Given the description of an element on the screen output the (x, y) to click on. 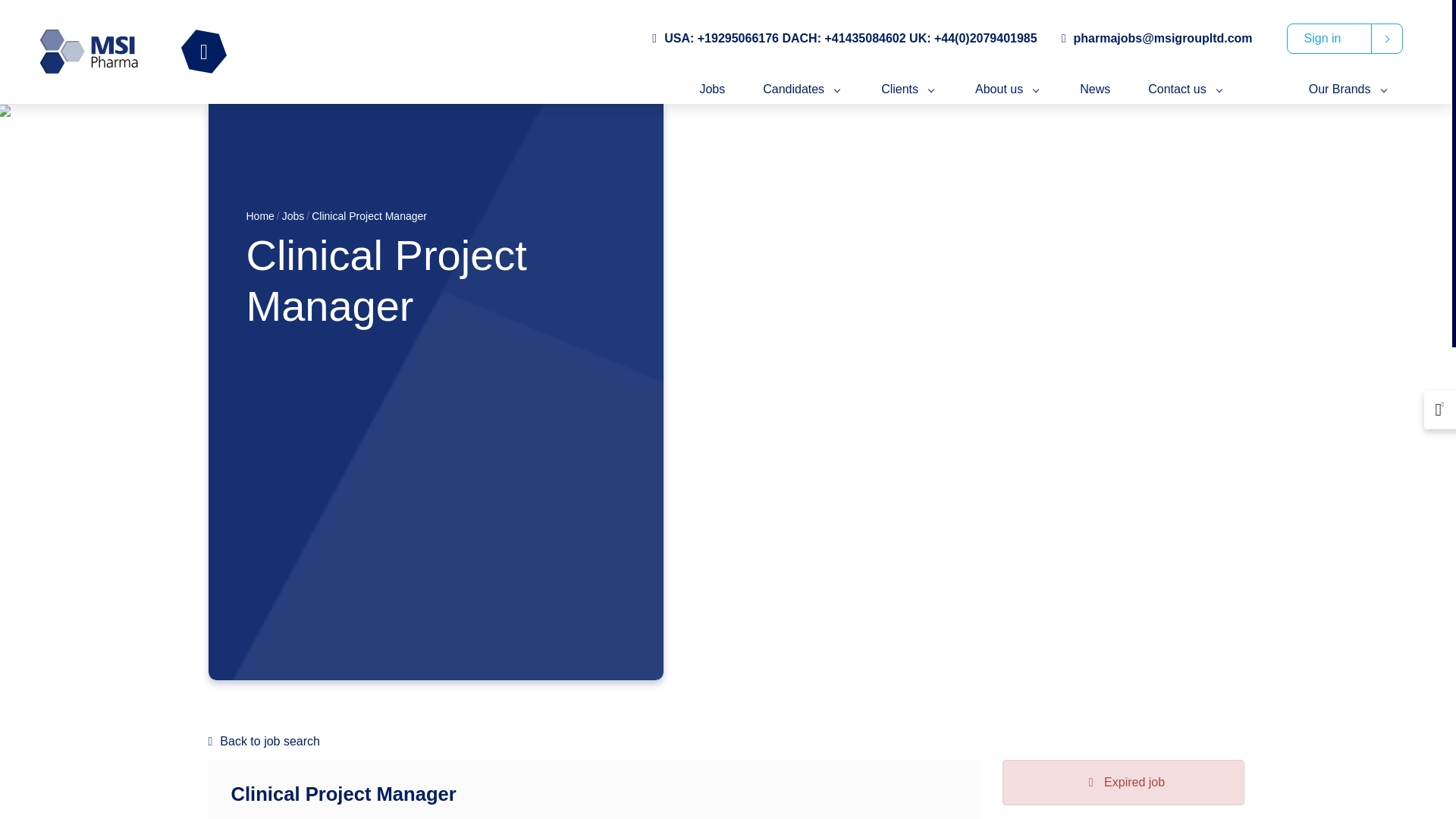
Home (260, 215)
About us (1008, 89)
Back to job search (725, 741)
Jobs (711, 89)
Sign in (1345, 38)
News (1095, 89)
Clients (908, 89)
Our Brands (1349, 89)
Candidates (802, 89)
Contact us (1186, 89)
